Given the description of an element on the screen output the (x, y) to click on. 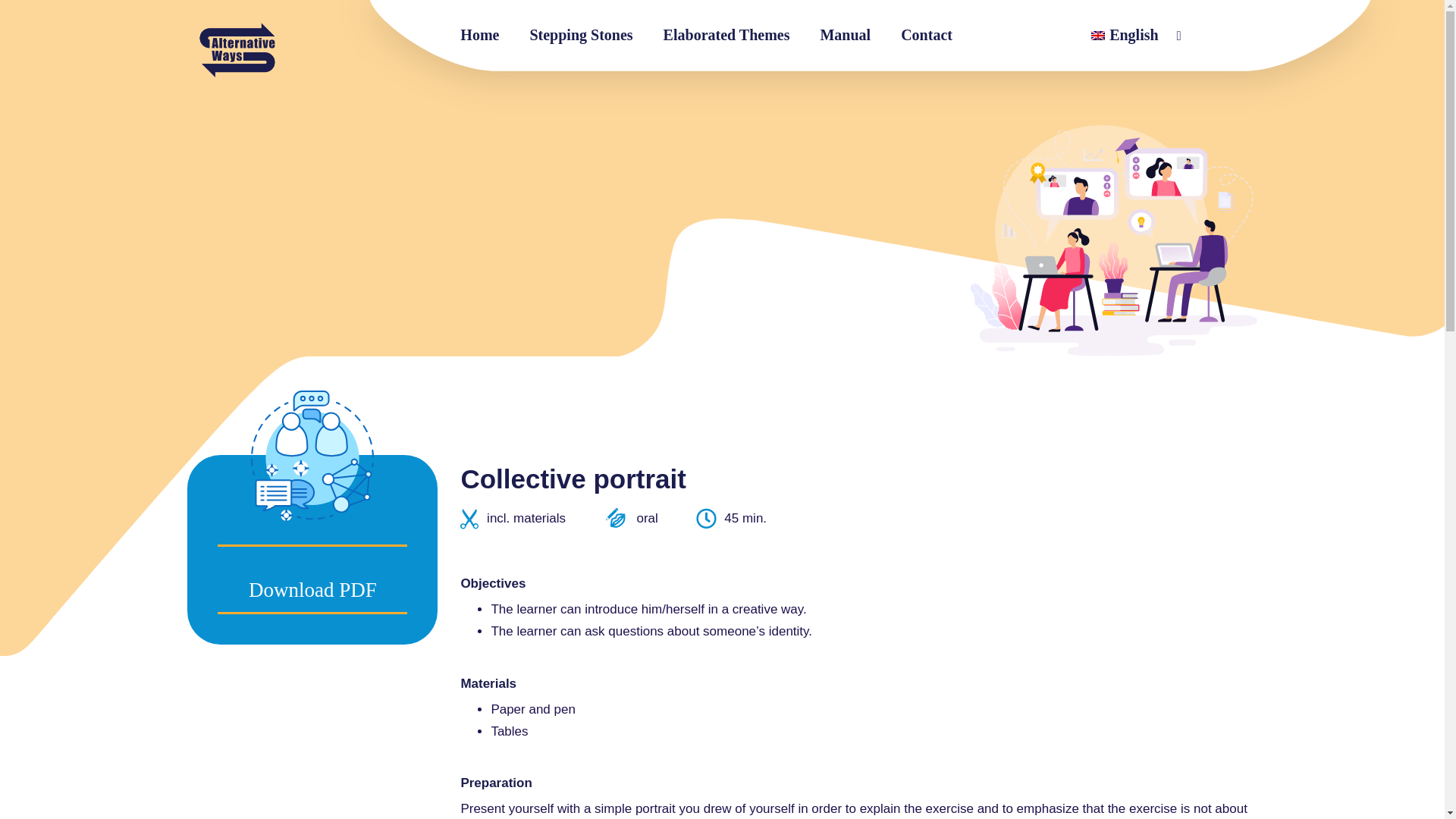
Contact (926, 34)
Elaborated Themes (726, 34)
Stepping Stones (580, 34)
Download PDF (311, 591)
Manual (844, 34)
Home (479, 34)
English (1123, 34)
English (1123, 34)
